Given the description of an element on the screen output the (x, y) to click on. 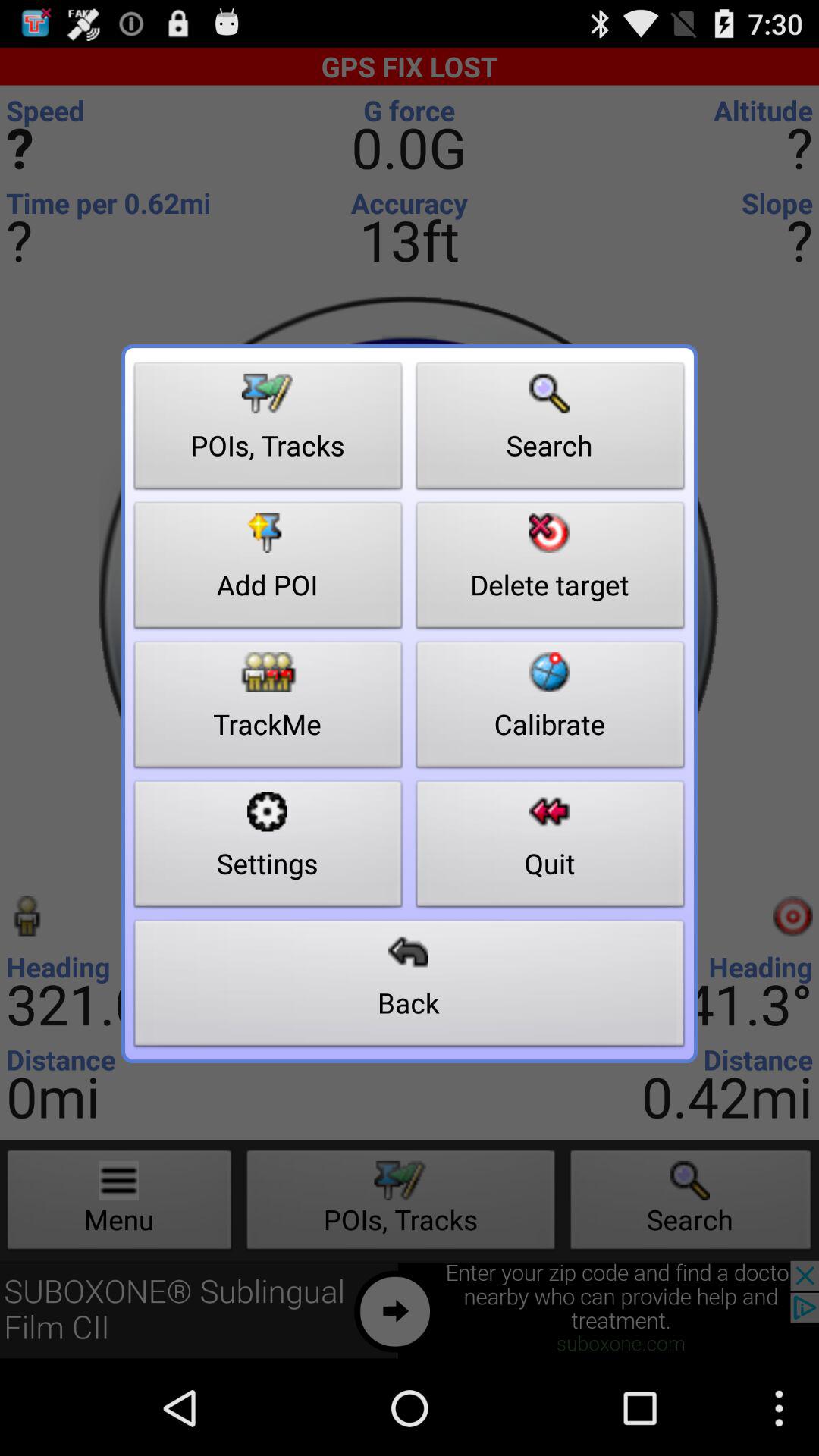
launch icon next to calibrate item (268, 847)
